Given the description of an element on the screen output the (x, y) to click on. 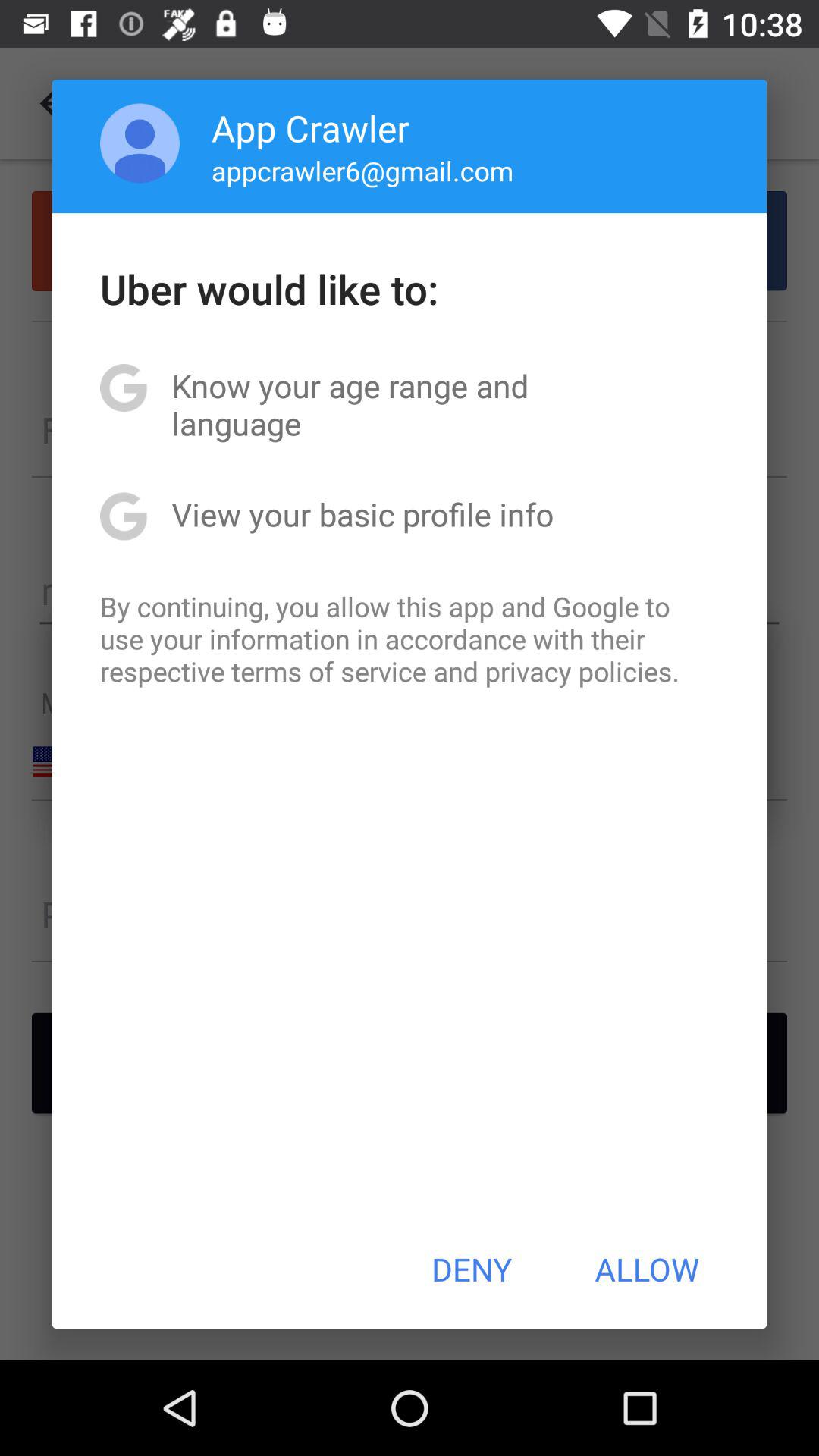
select the know your age (409, 404)
